Given the description of an element on the screen output the (x, y) to click on. 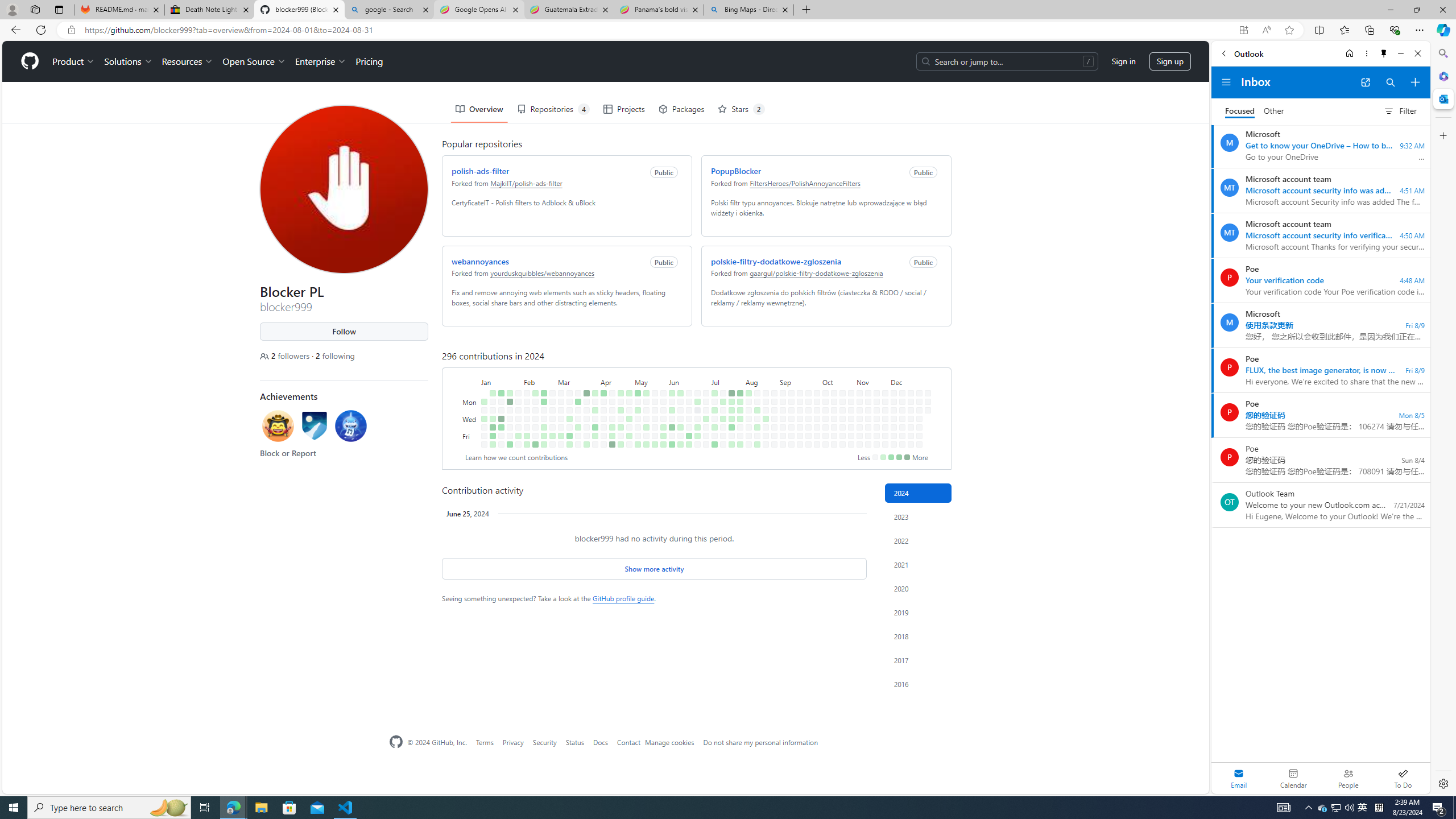
Get the Weekly Newsletter (854, 69)
Add this page to favorites (Ctrl+D) (1289, 29)
Nearshore Americas (319, 68)
Open in new tab (1365, 82)
Google Opens AI Academy for Startups - Nearshore Americas (478, 9)
App bar (728, 29)
Address and search bar (658, 29)
People (1347, 777)
